Given the description of an element on the screen output the (x, y) to click on. 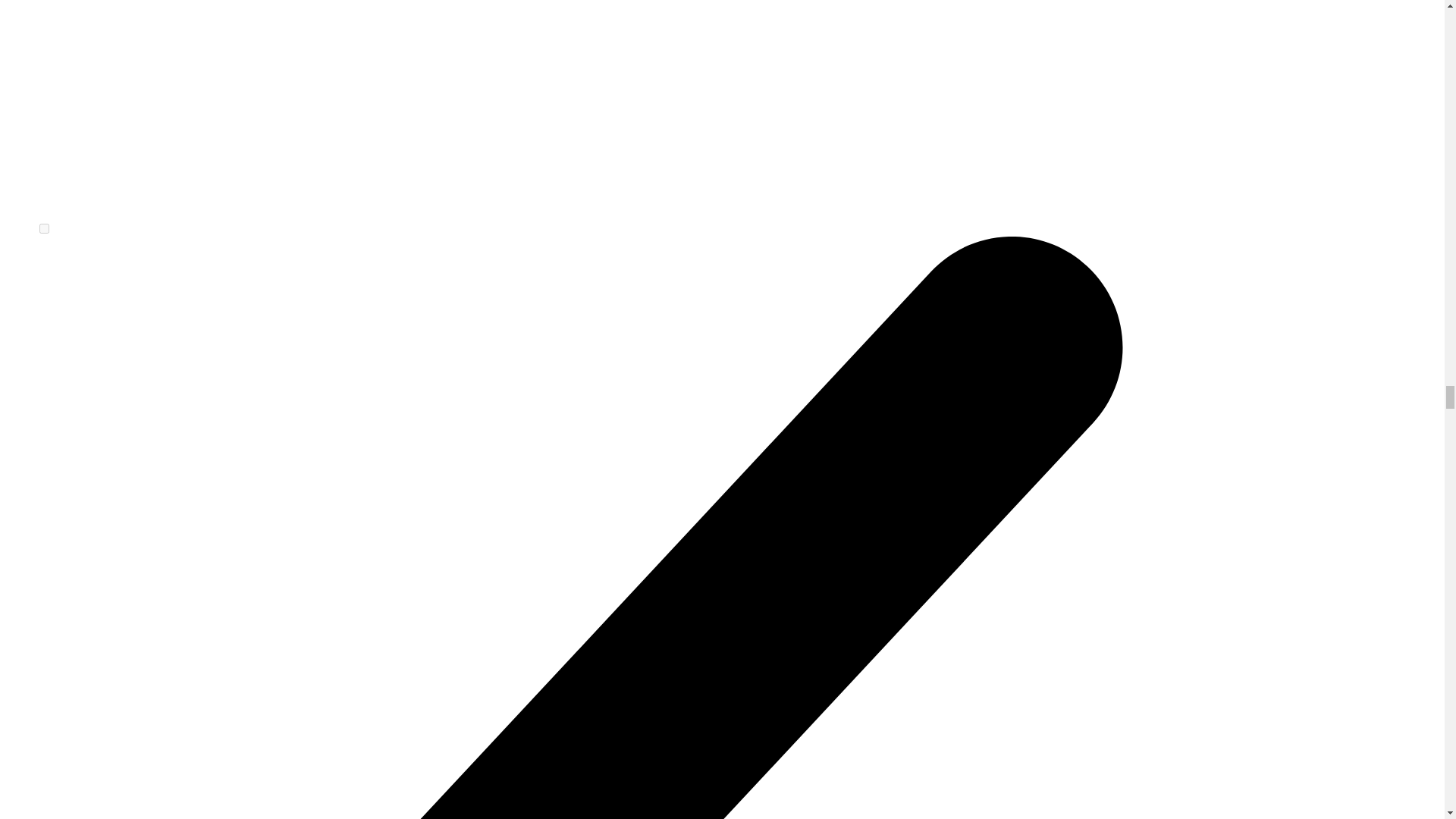
on (44, 228)
